Given the description of an element on the screen output the (x, y) to click on. 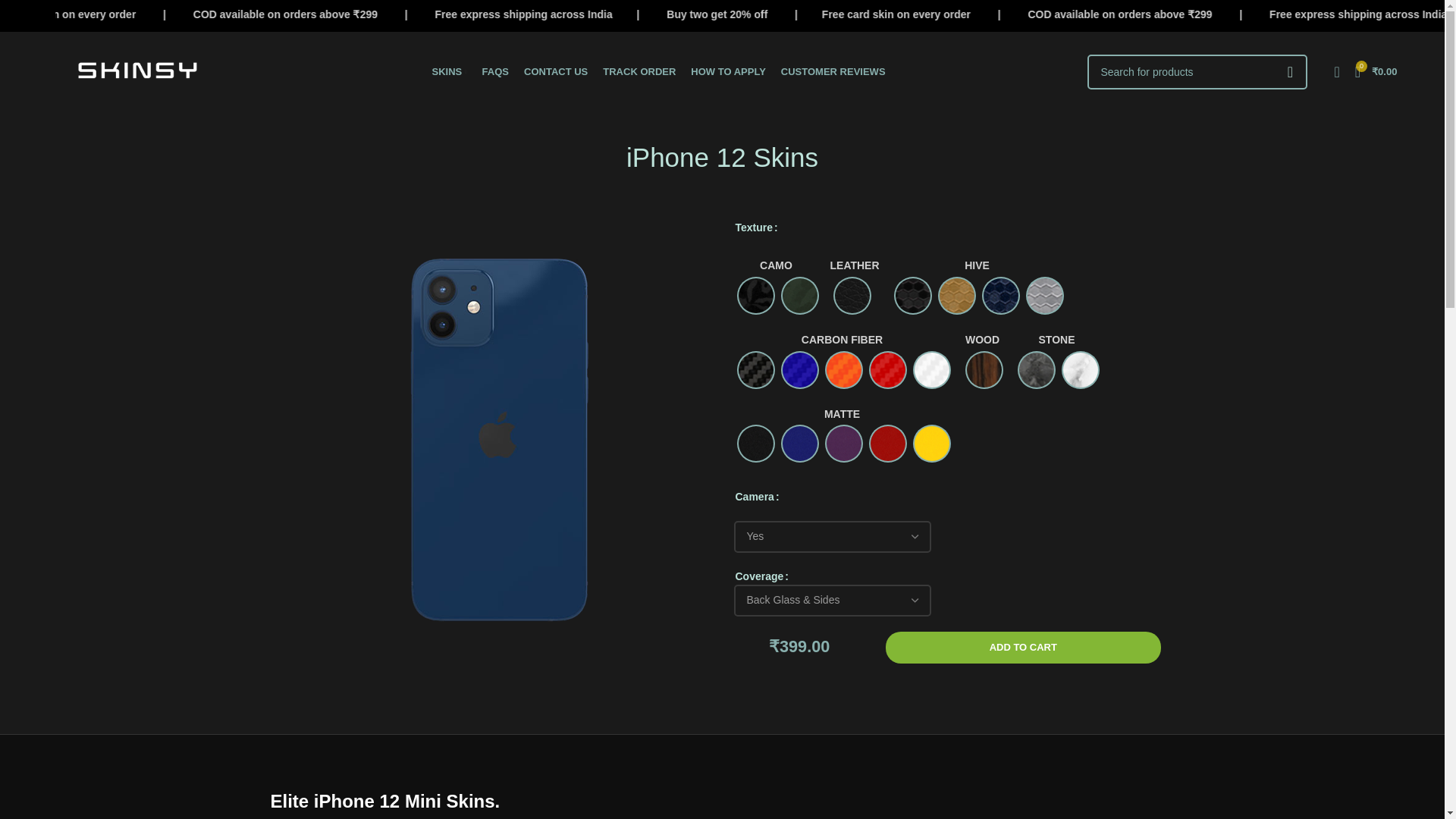
CUSTOMER REVIEWS (832, 71)
Gold Hive (956, 295)
Black Hive (912, 295)
SKINS (449, 71)
Green Camo (799, 295)
Search for products (1197, 71)
Blue Hive (1000, 295)
Black Leather (851, 295)
HOW TO APPLY (727, 71)
Carbon Fiber Blue (799, 370)
Silver Hive (1045, 295)
SEARCH (1289, 71)
Black Camo (755, 295)
Shopping cart (1376, 71)
CONTACT US (556, 71)
